Given the description of an element on the screen output the (x, y) to click on. 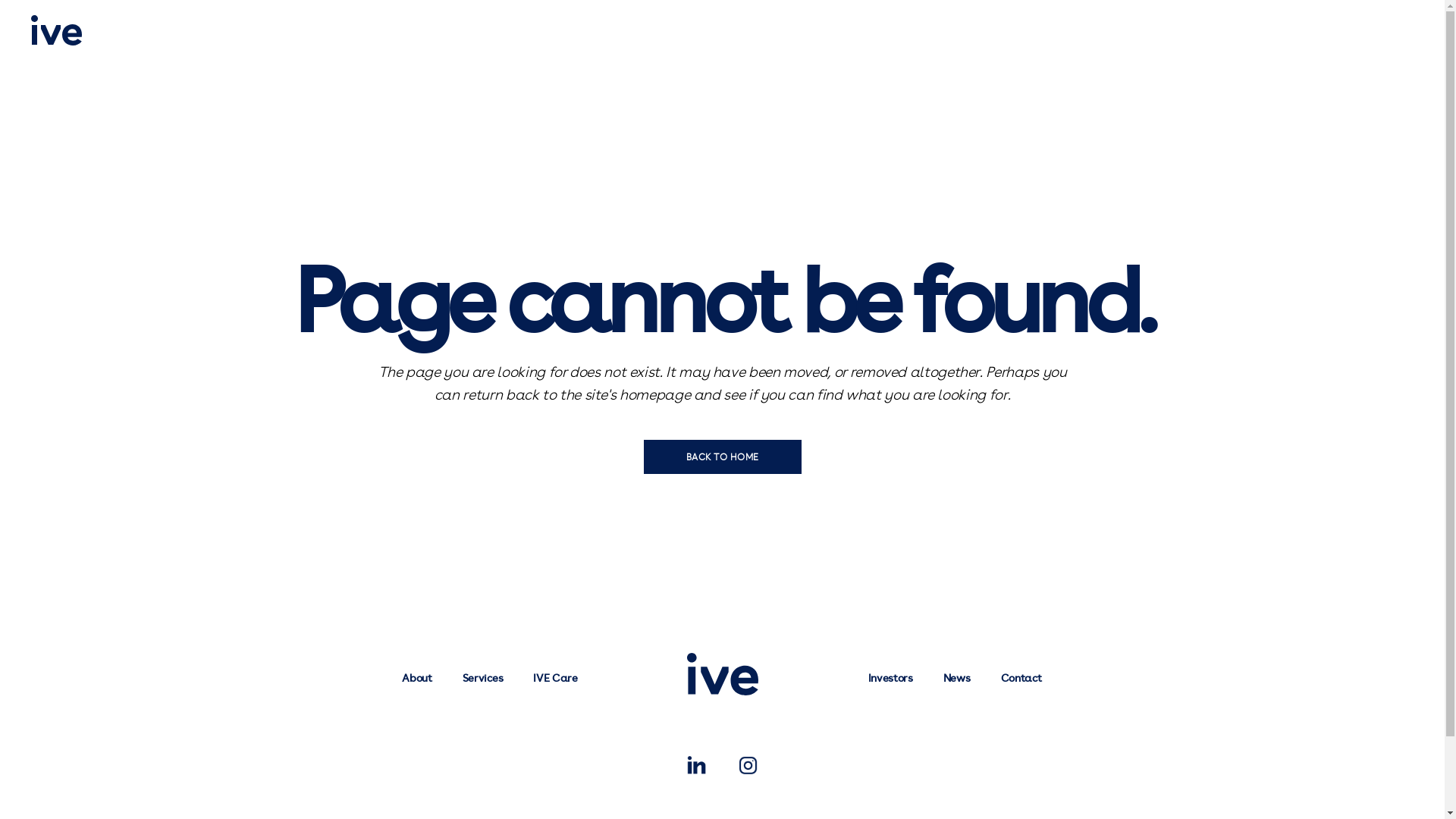
U Element type: text (1283, 401)
News Element type: text (956, 677)
Services Element type: text (482, 677)
About Element type: text (416, 677)
BACK TO HOME Element type: text (721, 456)
Contact Element type: text (1021, 677)
Investors Element type: text (890, 677)
IVE Care Element type: text (555, 677)
